Given the description of an element on the screen output the (x, y) to click on. 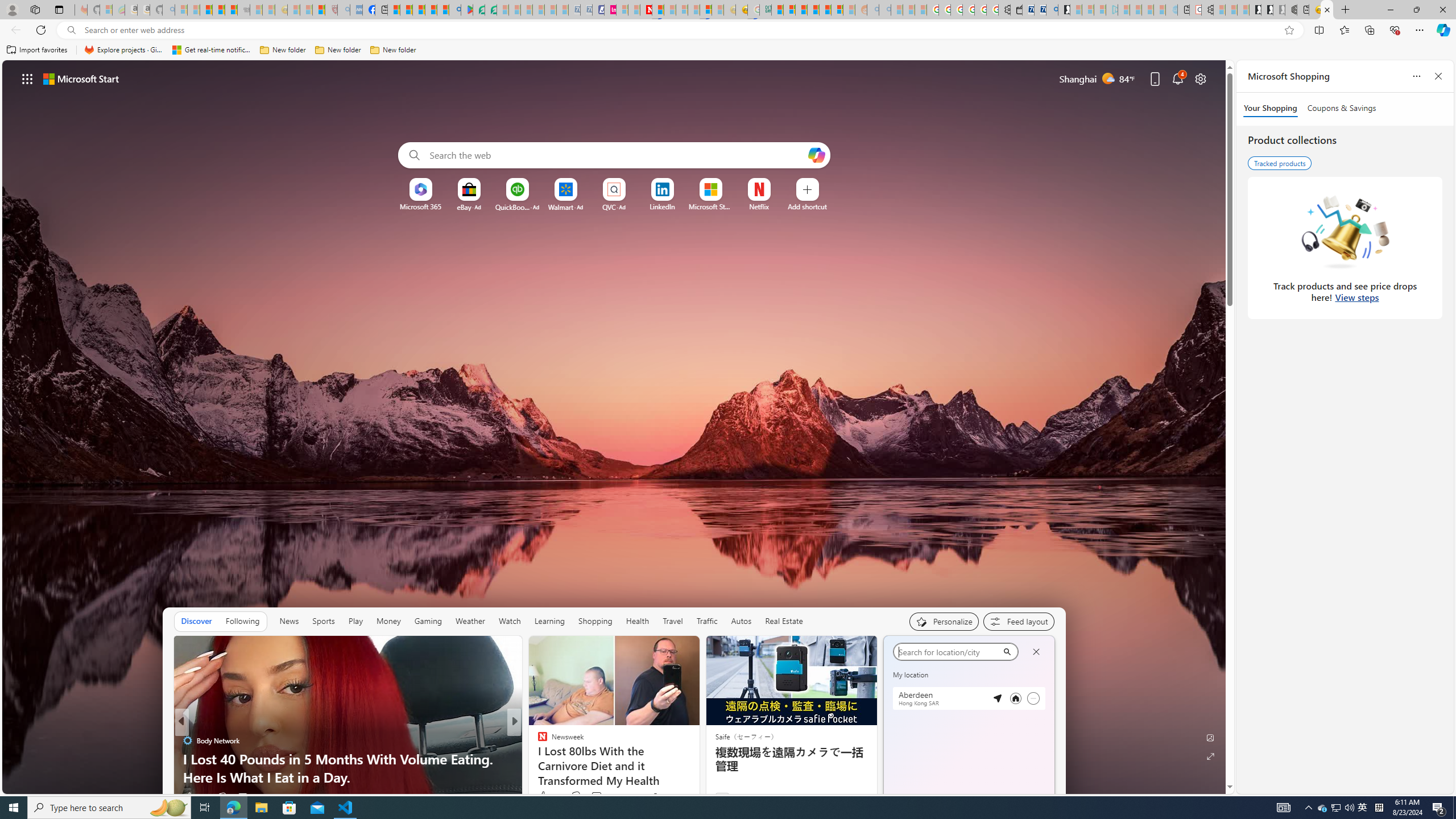
69 Like (543, 796)
next (1047, 722)
Personalize your feed" (943, 621)
Shopping (594, 621)
Terms of Use Agreement (478, 9)
Expect rain showers next Tuesday (1040, 678)
Offline games - Android Apps on Google Play (466, 9)
Cannot remove (1032, 698)
